Given the description of an element on the screen output the (x, y) to click on. 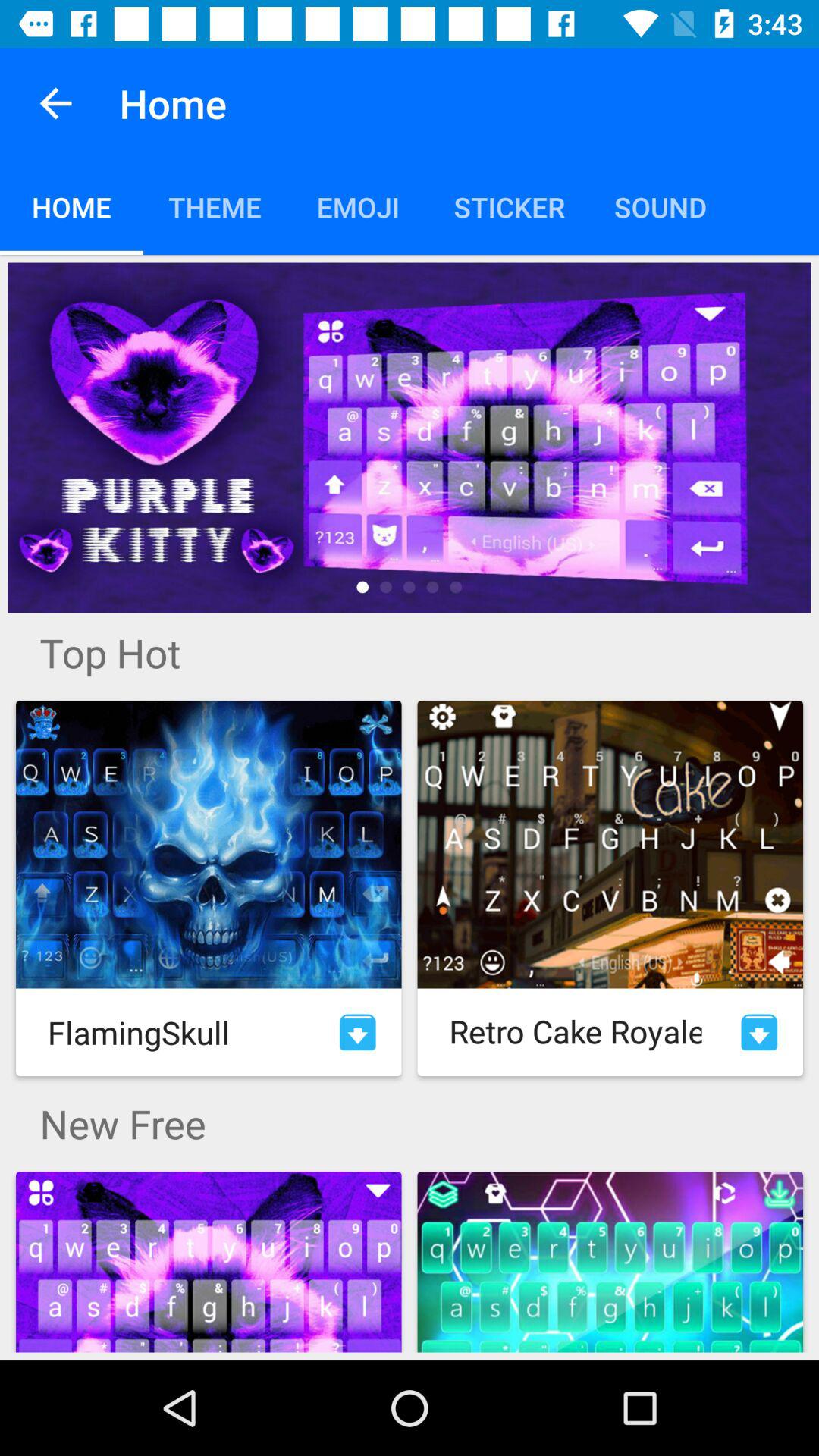
download theme (357, 1032)
